Given the description of an element on the screen output the (x, y) to click on. 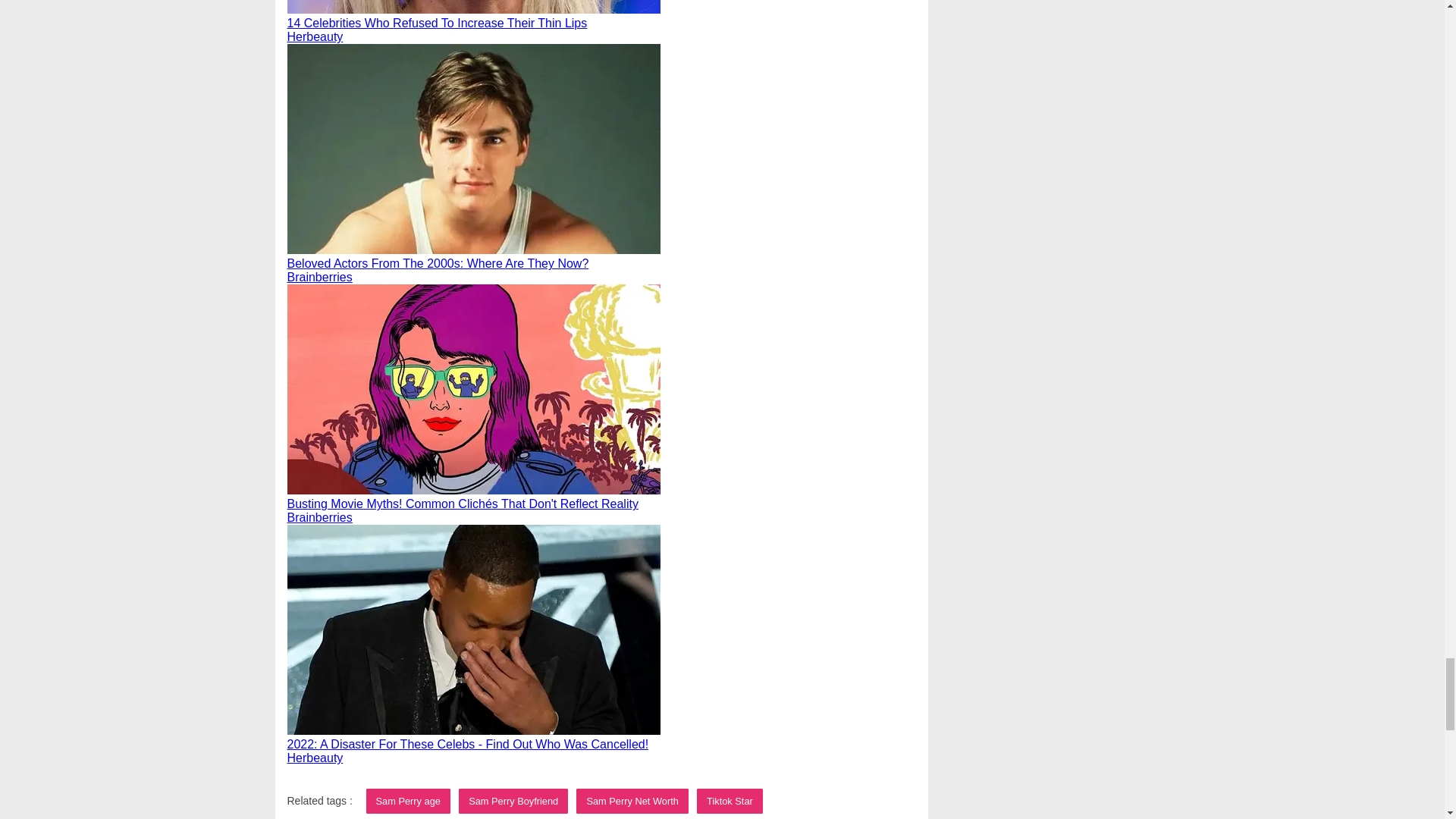
Sam Perry age (407, 801)
Sam Perry Boyfriend (512, 801)
Sam Perry Net Worth (631, 801)
Tiktok Star (729, 801)
